Given the description of an element on the screen output the (x, y) to click on. 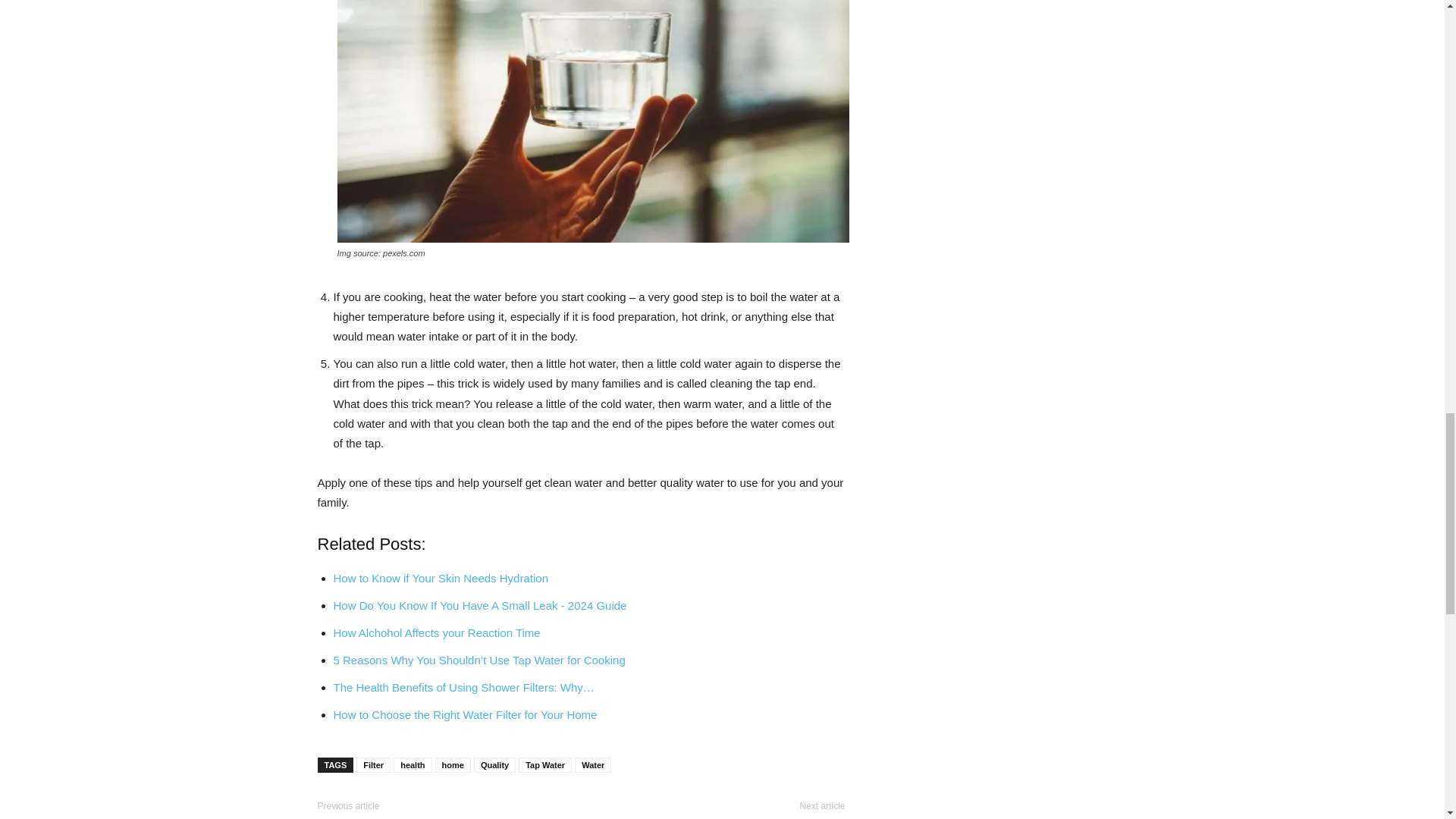
How Alchohol Affects your Reaction Time (436, 632)
How Do You Know If You Have A Small Leak - 2024 Guide (480, 604)
How to Know if Your Skin Needs Hydration (440, 577)
How to Choose the Right Water Filter for Your Home (464, 714)
Filter (373, 765)
